Given the description of an element on the screen output the (x, y) to click on. 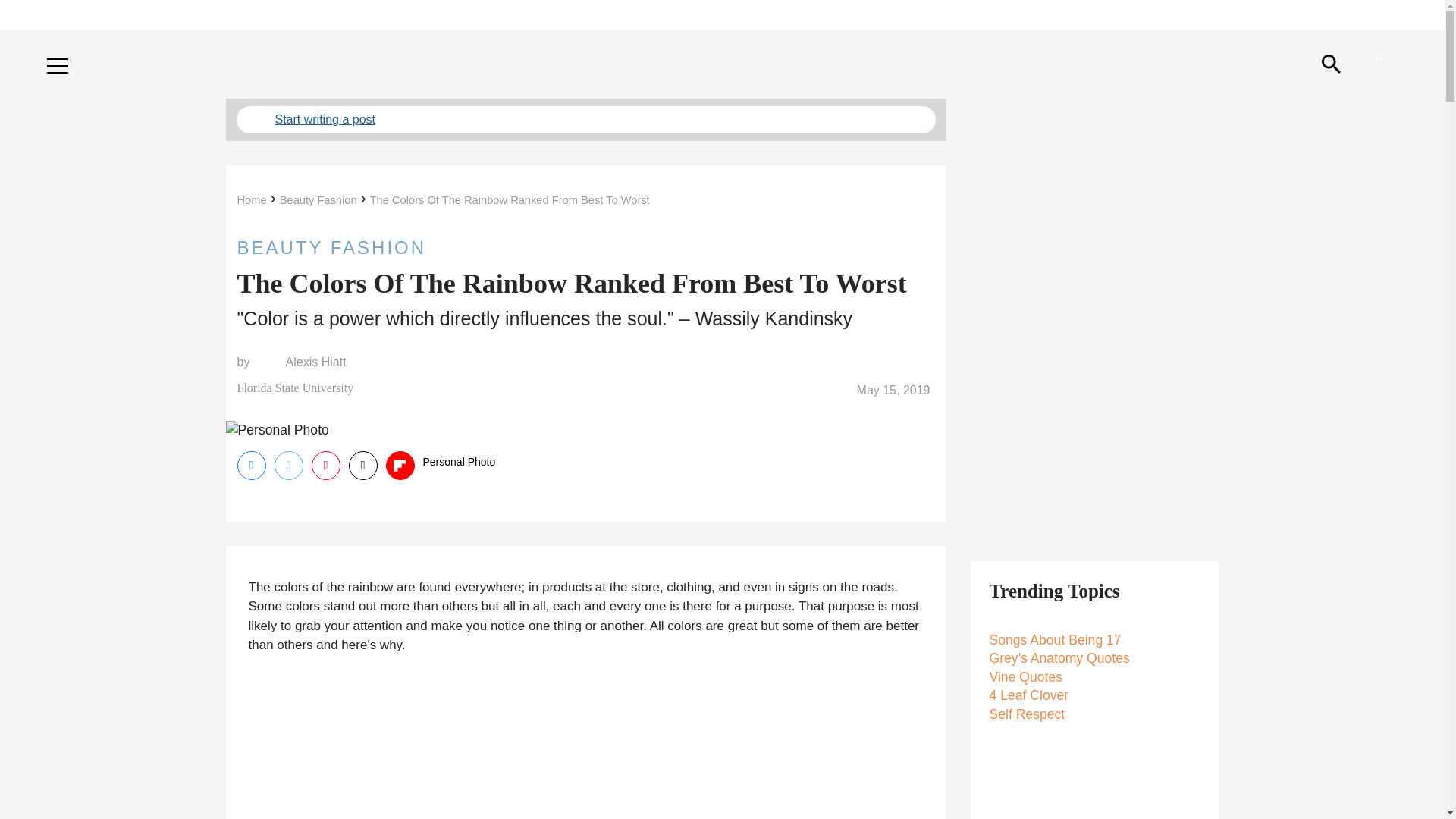
Home (250, 200)
The Colors Of The Rainbow Ranked From Best To Worst (509, 200)
BEAUTY FASHION (584, 248)
Alexis Hiatt (315, 362)
Beauty Fashion (317, 200)
Start writing a post (585, 119)
